Given the description of an element on the screen output the (x, y) to click on. 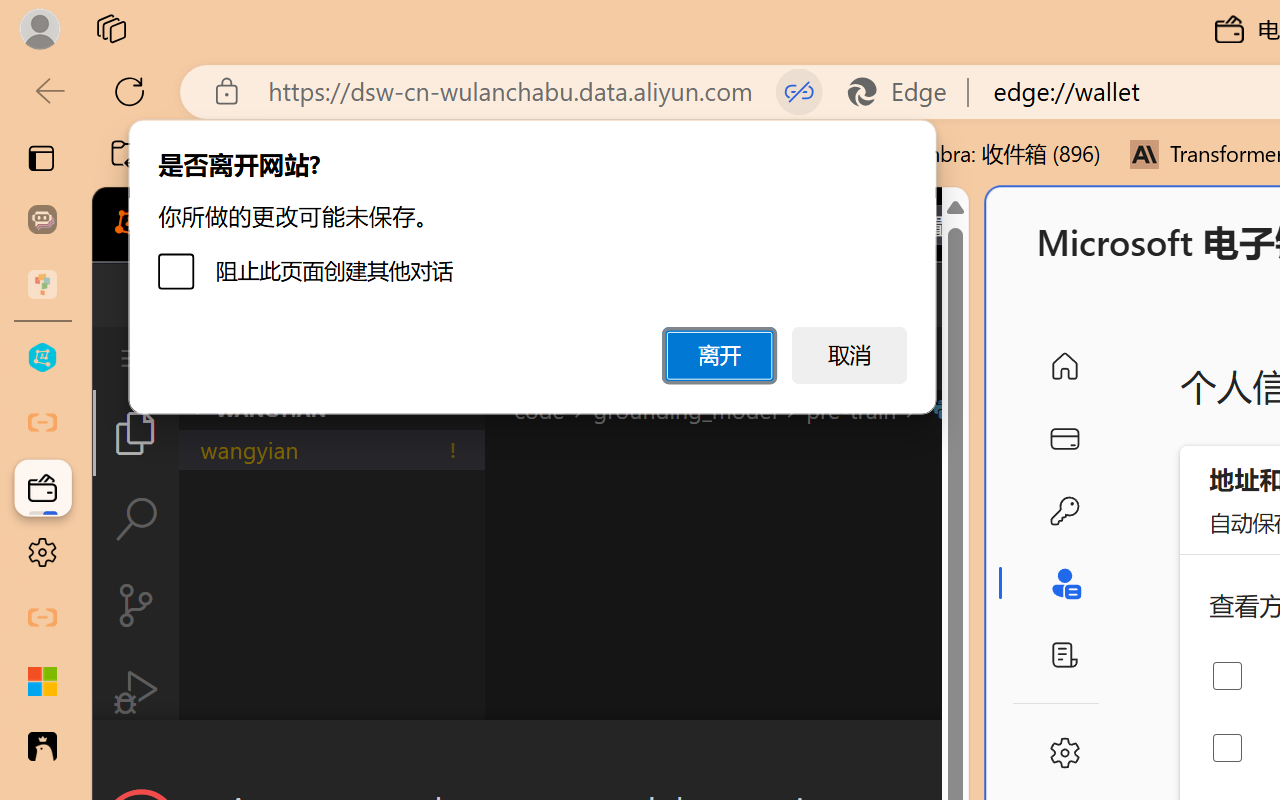
Class: actions-container (529, 756)
